Given the description of an element on the screen output the (x, y) to click on. 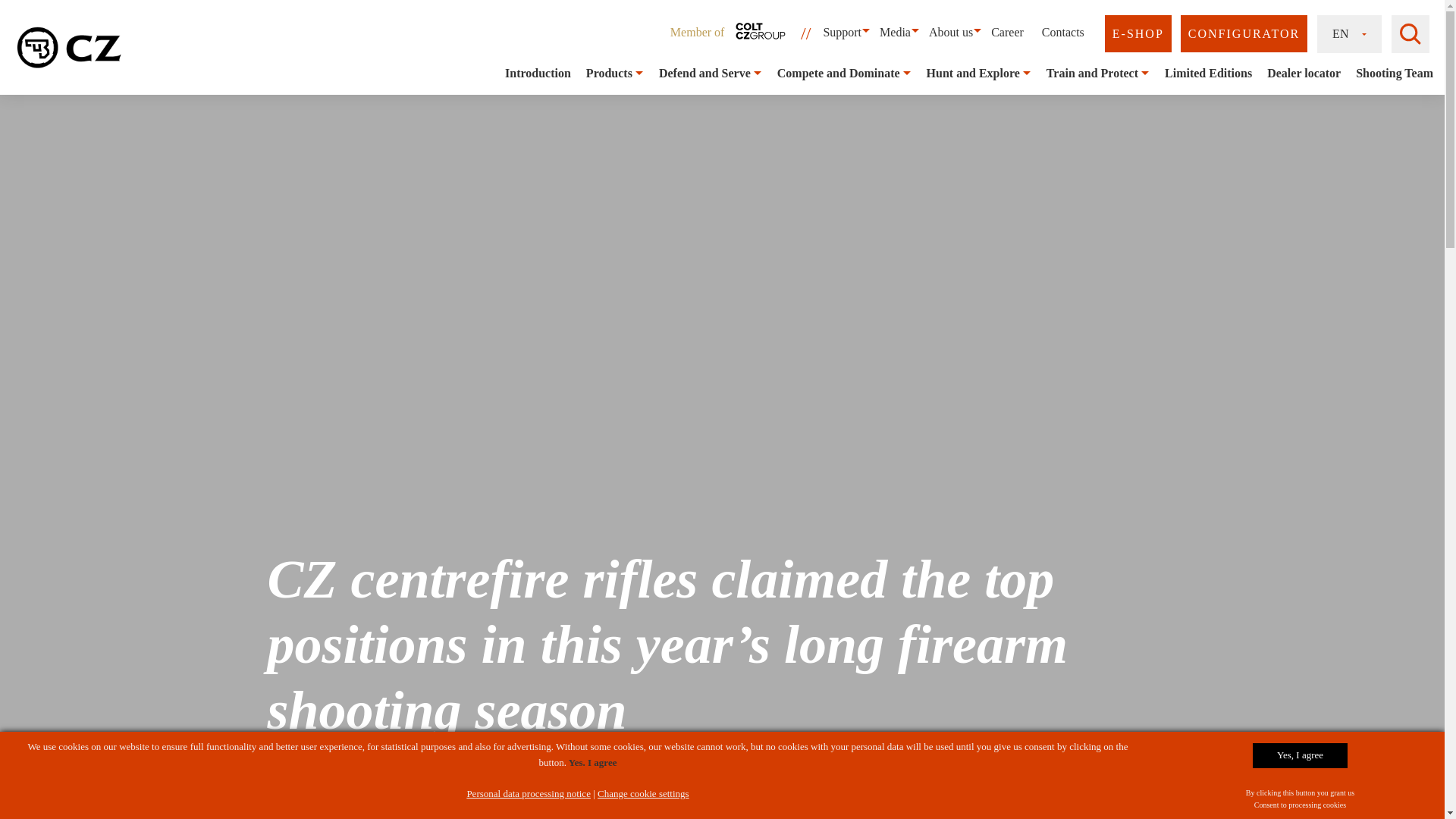
CONFIGURATOR (1243, 33)
Products (608, 73)
Support (841, 32)
E-SHOP (1138, 33)
Media (894, 32)
Contacts (1062, 32)
Introduction (537, 73)
About us (950, 32)
Career (1007, 32)
